Given the description of an element on the screen output the (x, y) to click on. 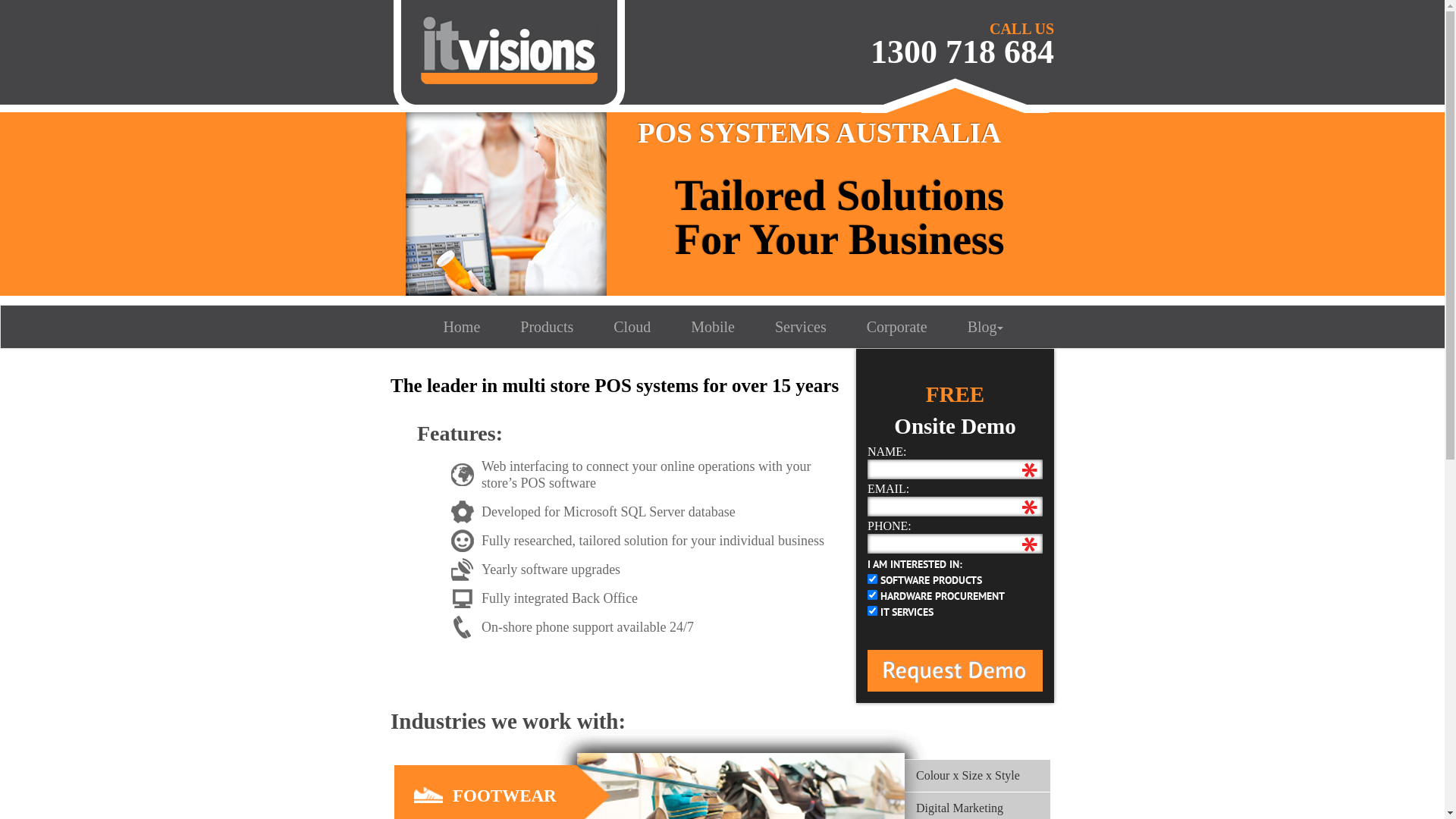
Mobile Element type: text (712, 326)
Home Element type: text (461, 326)
Blog Element type: text (985, 326)
Products Element type: text (546, 326)
Corporate Element type: text (896, 326)
Services Element type: text (800, 326)
Cloud Element type: text (631, 326)
